Given the description of an element on the screen output the (x, y) to click on. 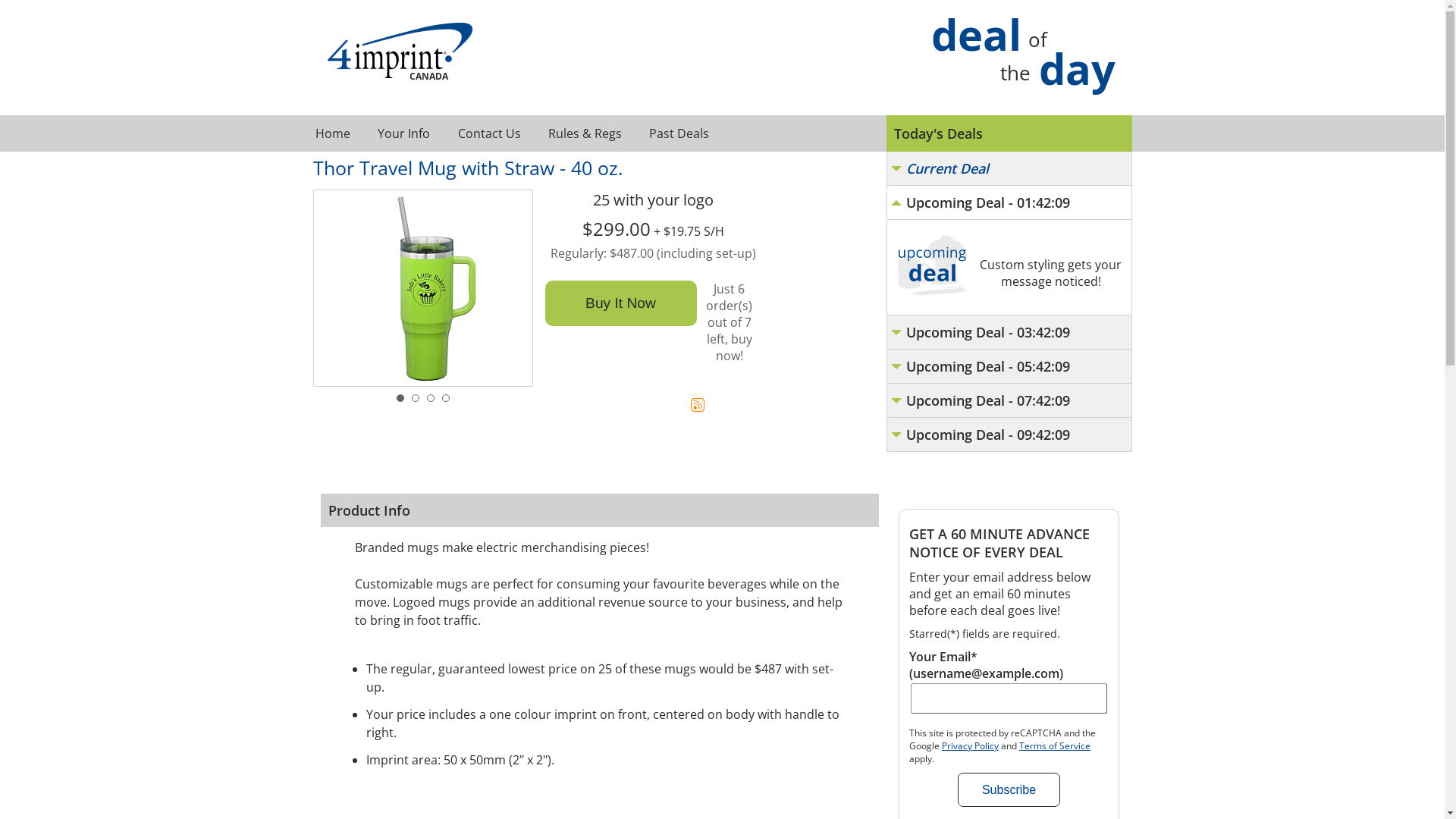
Upcoming Deal - 01:42:10 Element type: text (1008, 202)
GET A 60 MINUTE ADVANCE NOTICE OF EVERY DEAL Element type: text (1008, 542)
Home Element type: text (331, 133)
Contact Us Element type: text (487, 133)
Upcoming Deal - 09:42:10 Element type: text (1008, 434)
Privacy Policy
opens in a new window Element type: text (969, 745)
Upcoming Deal - 07:42:10 Element type: text (1008, 400)
Upcoming Deal - 05:42:10 Element type: text (1008, 366)
Buy It Now Element type: text (620, 303)
Please enter a valid email for recipient. Element type: hover (1008, 698)
Current Deal Element type: text (1008, 168)
Upcoming Deal - 03:42:10 Element type: text (1008, 332)
Past Deals Element type: text (677, 133)
Your Info Element type: text (402, 133)
Subscribe Element type: text (1008, 789)
Terms of Service
opens in a new window Element type: text (1054, 745)
Product Info Element type: text (599, 510)
View RSS Feed Element type: text (699, 404)
deal
of
the
day Element type: text (1023, 54)
Rules & Regs Element type: text (583, 133)
